Given the description of an element on the screen output the (x, y) to click on. 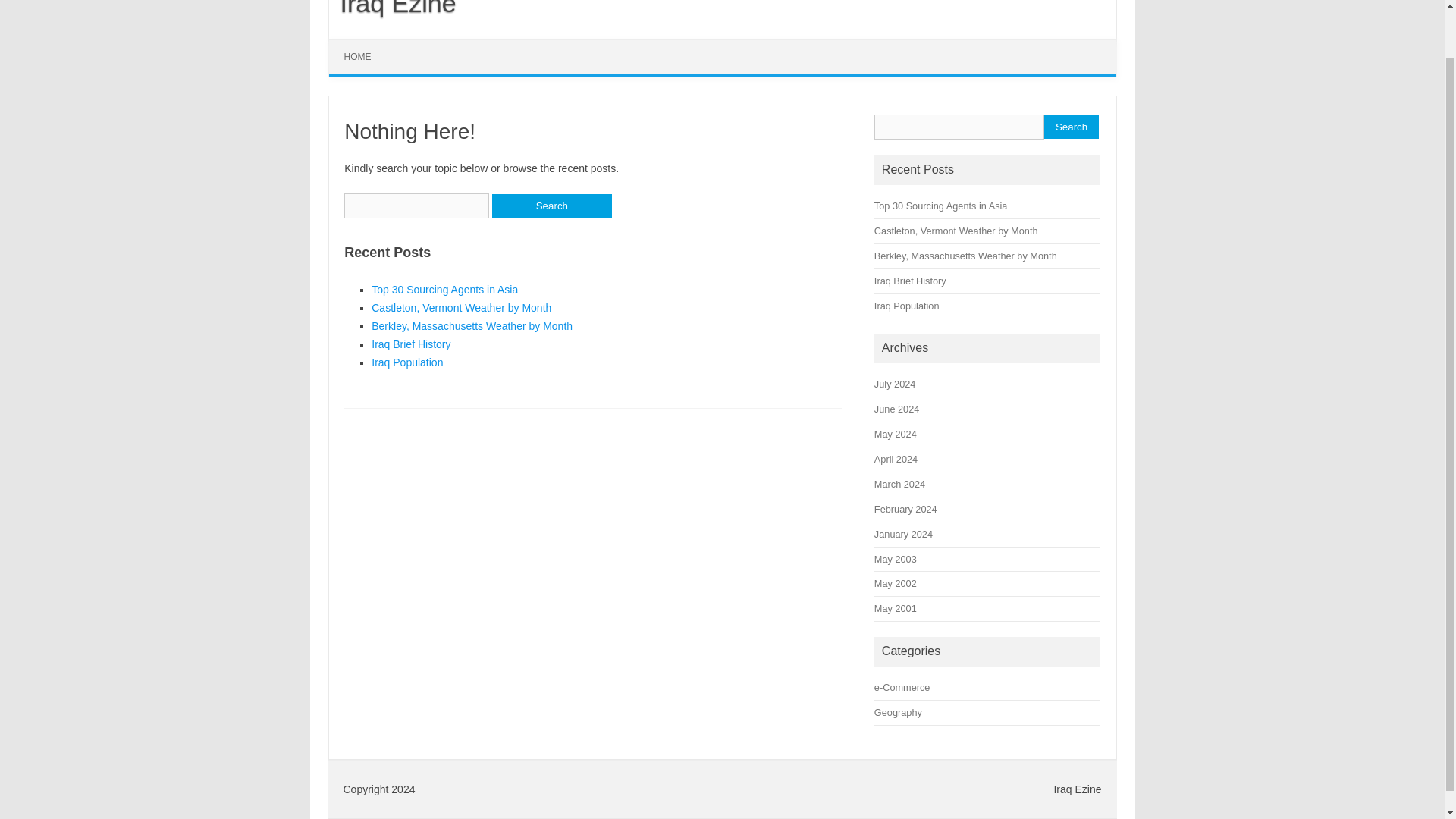
July 2024 (895, 383)
Skip to content (363, 44)
Iraq Brief History (410, 344)
Iraq Brief History (910, 280)
Iraq Ezine (393, 8)
May 2001 (896, 608)
Castleton, Vermont Weather by Month (461, 307)
Berkley, Massachusetts Weather by Month (471, 326)
Search (551, 205)
Search (551, 205)
